Given the description of an element on the screen output the (x, y) to click on. 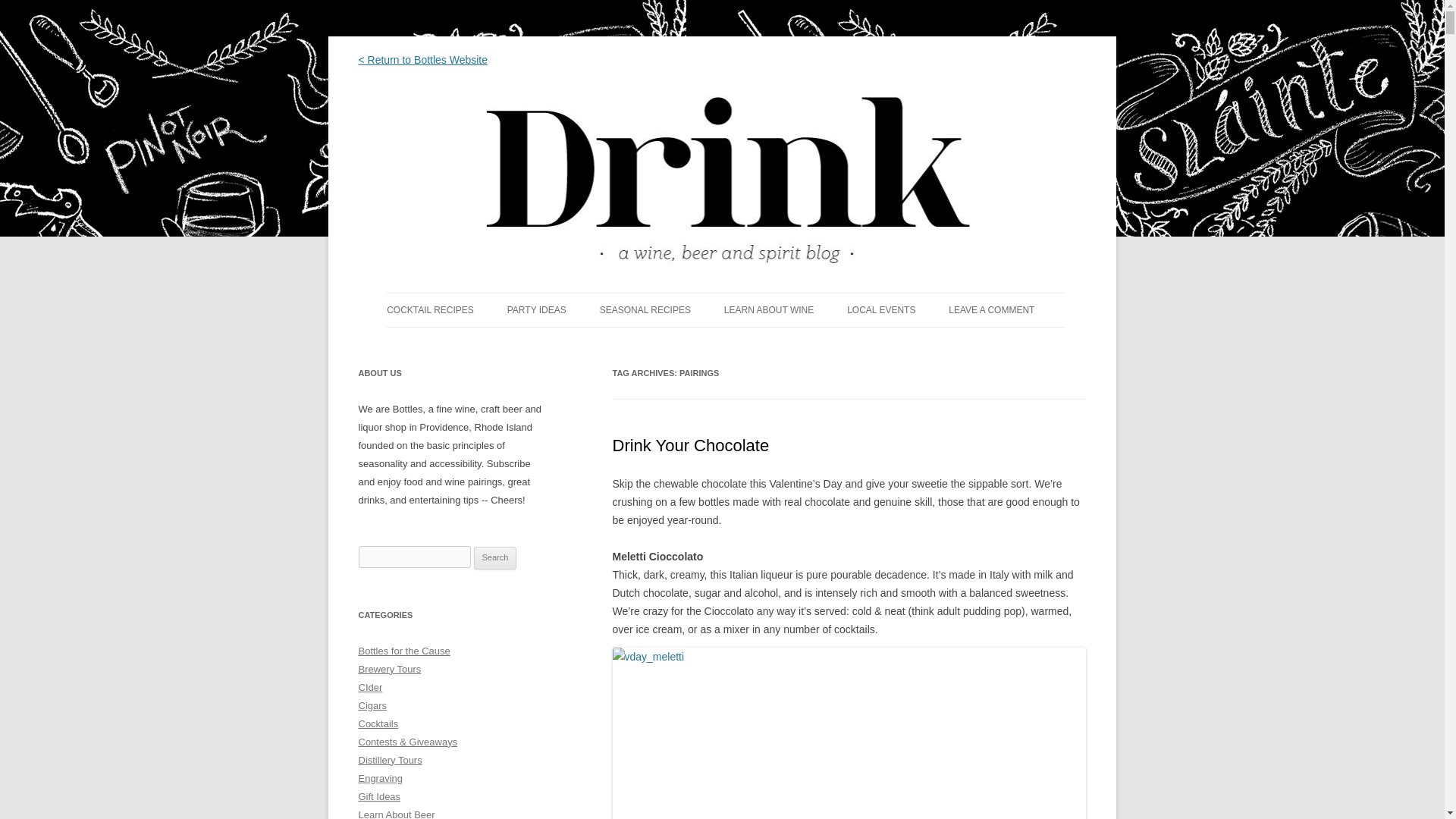
Search (495, 558)
PARTY IDEAS (536, 309)
COCKTAIL RECIPES (430, 309)
SEASONAL RECIPES (644, 309)
Drink Your Chocolate (691, 445)
LEAVE A COMMENT (991, 309)
LOCAL EVENTS (881, 309)
LEARN ABOUT WINE (768, 309)
